Given the description of an element on the screen output the (x, y) to click on. 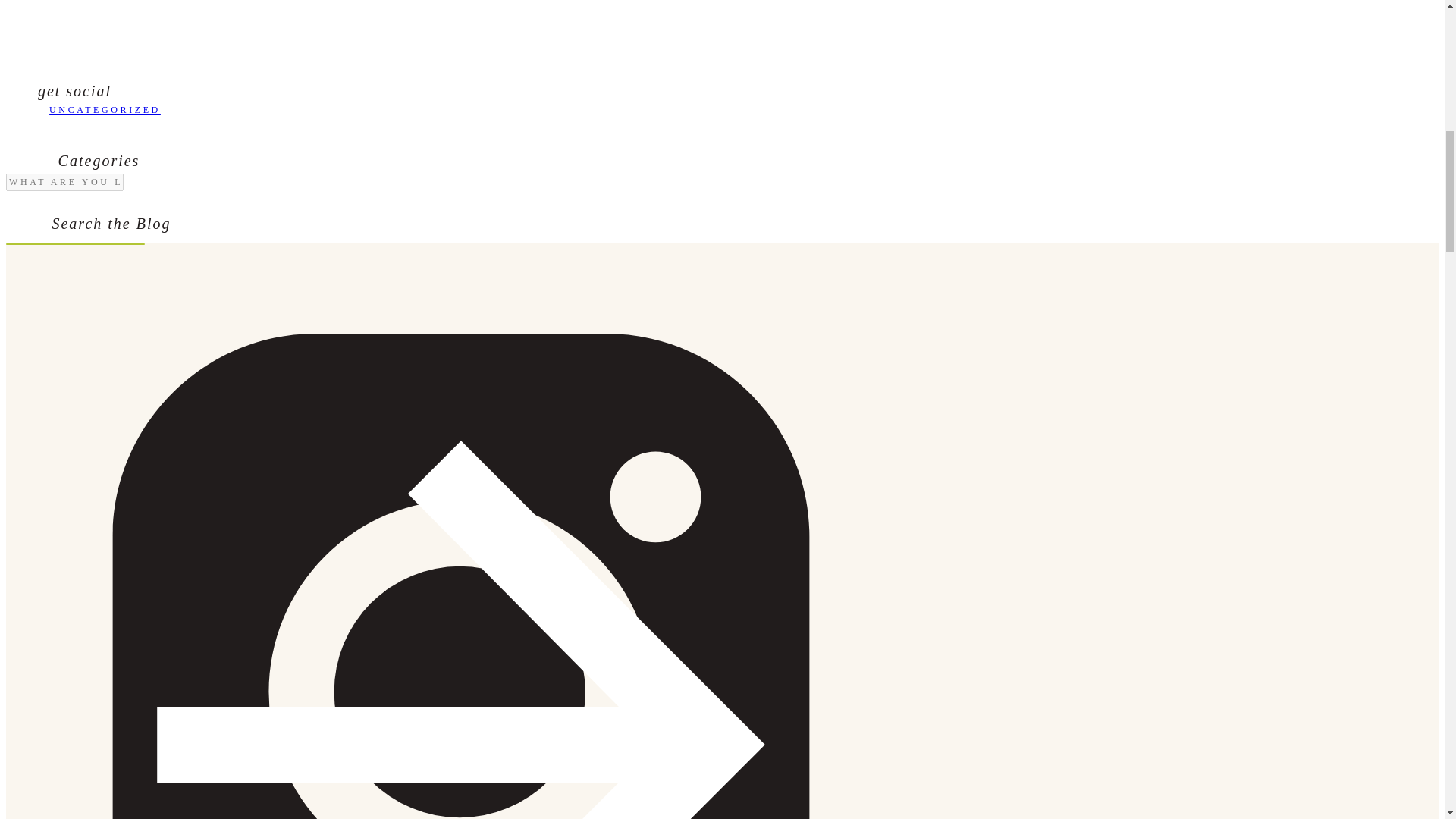
UNCATEGORIZED (104, 109)
